Given the description of an element on the screen output the (x, y) to click on. 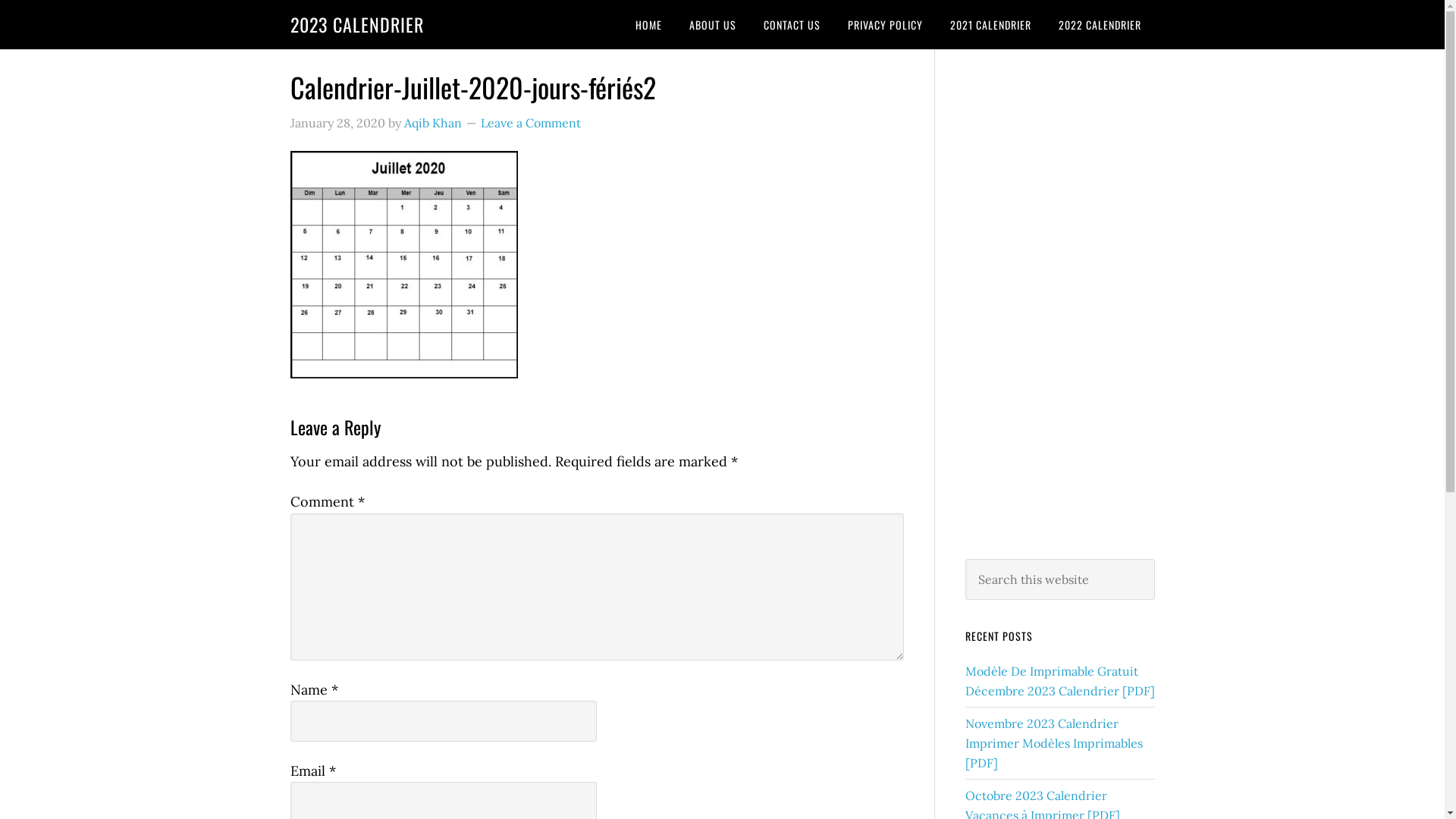
Leave a Comment Element type: text (530, 122)
Search Element type: text (1154, 558)
HOME Element type: text (648, 24)
2022 CALENDRIER Element type: text (1099, 24)
2023 CALENDRIER Element type: text (356, 23)
ABOUT US Element type: text (711, 24)
CONTACT US Element type: text (791, 24)
Advertisement Element type: hover (1059, 300)
PRIVACY POLICY Element type: text (885, 24)
2021 CALENDRIER Element type: text (989, 24)
Aqib Khan Element type: text (432, 122)
